Given the description of an element on the screen output the (x, y) to click on. 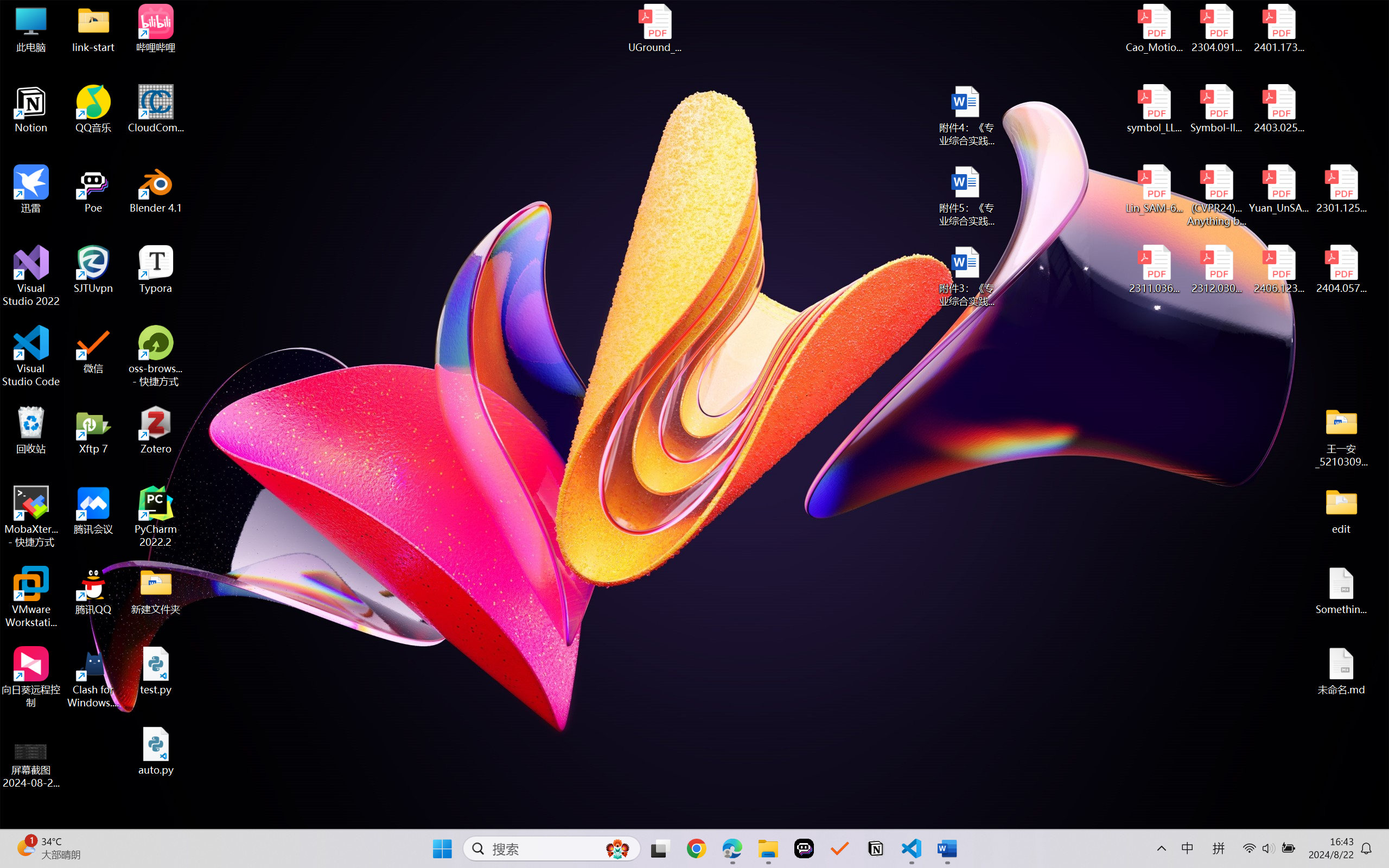
edit (1340, 510)
2312.03032v2.pdf (1216, 269)
Symbol-llm-v2.pdf (1216, 109)
2404.05719v1.pdf (1340, 269)
test.py (156, 670)
2304.09121v3.pdf (1216, 28)
